Given the description of an element on the screen output the (x, y) to click on. 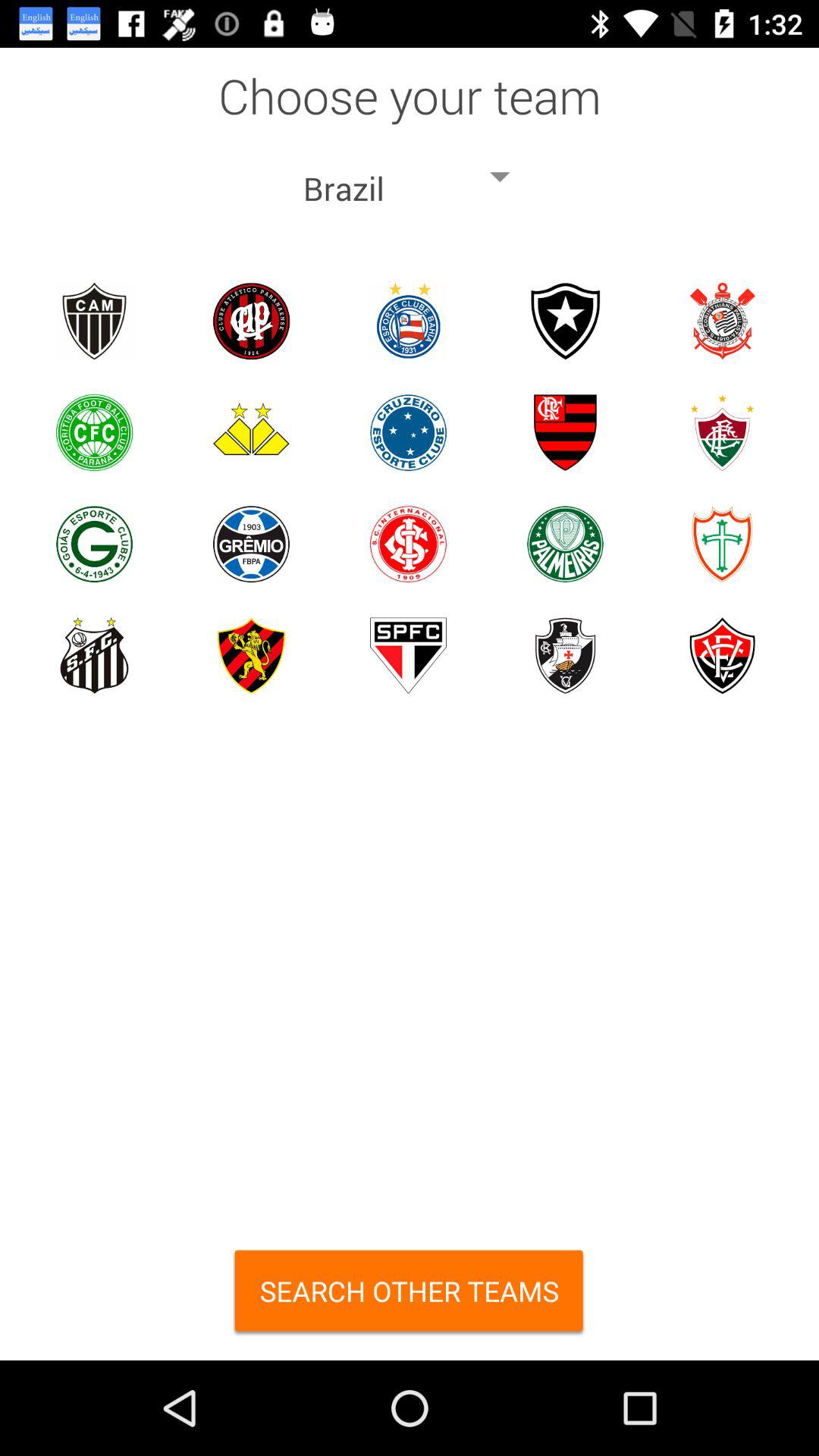
toggle to choose this team (408, 544)
